Given the description of an element on the screen output the (x, y) to click on. 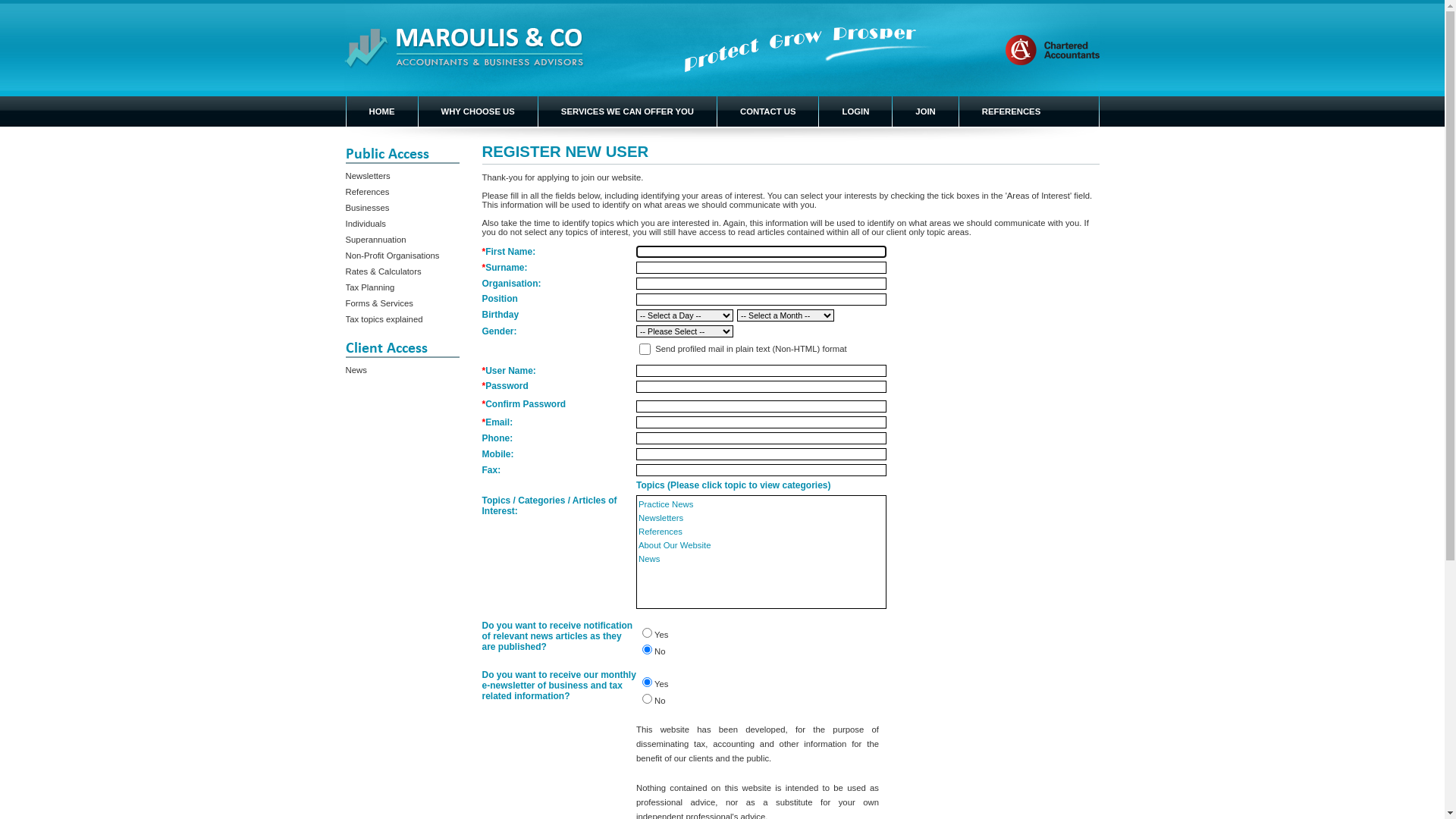
Businesses Element type: text (367, 207)
Practice News Element type: text (665, 503)
WHY CHOOSE US Element type: text (477, 111)
No Element type: text (647, 698)
Newsletters Element type: text (660, 517)
Non-Profit Organisations Element type: text (392, 255)
Tax Planning Element type: text (370, 286)
JOIN Element type: text (925, 111)
LOGIN Element type: text (855, 111)
Superannuation Element type: text (375, 239)
Newsletters Element type: text (367, 175)
Yes Element type: text (647, 632)
CONTACT US Element type: text (767, 111)
Yes Element type: text (647, 682)
Forms & Services Element type: text (379, 302)
SERVICES WE CAN OFFER YOU Element type: text (627, 111)
No Element type: text (647, 649)
Individuals Element type: text (365, 223)
Tax topics explained Element type: text (384, 318)
REFERENCES Element type: text (1011, 111)
HOME Element type: text (381, 111)
News Element type: text (356, 369)
Rates & Calculators Element type: text (383, 271)
References Element type: text (367, 191)
References Element type: text (660, 531)
News Element type: text (648, 558)
About Our Website Element type: text (674, 544)
